Given the description of an element on the screen output the (x, y) to click on. 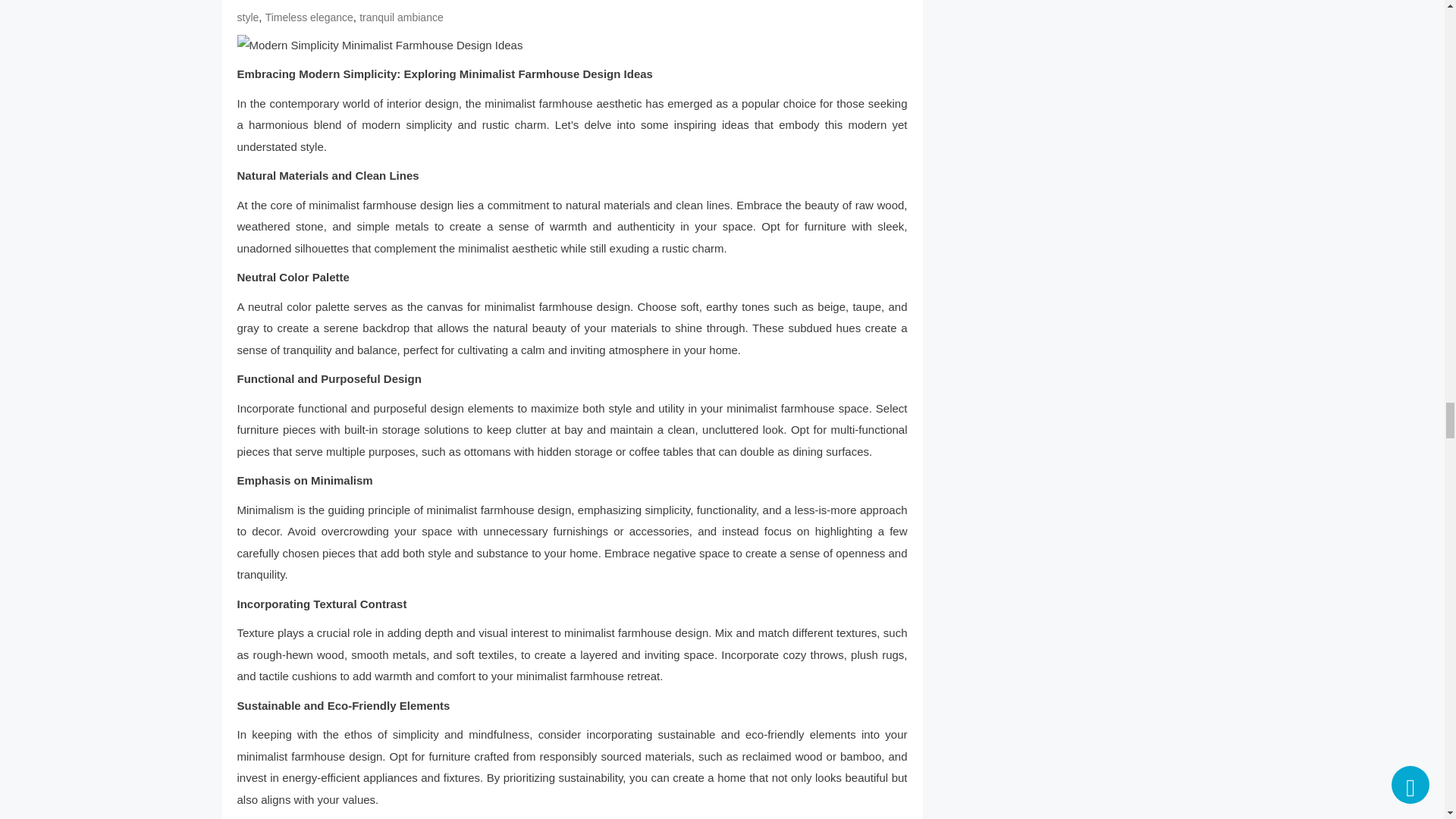
Modern Simplicity Minimalist Farmhouse Design Ideas (571, 45)
